Given the description of an element on the screen output the (x, y) to click on. 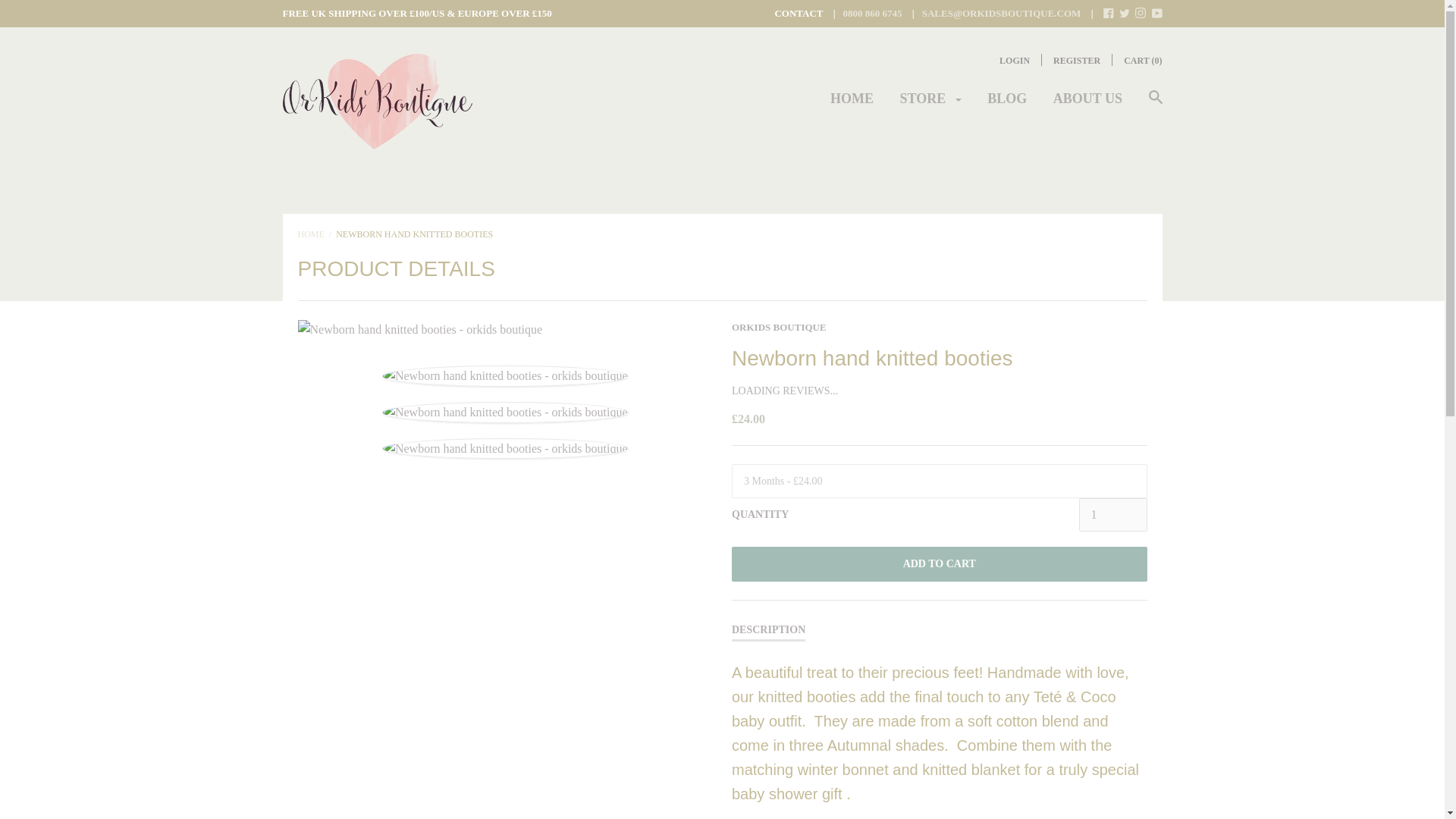
Twitter (1124, 14)
Facebook (1108, 12)
1 (1112, 514)
Instagram (1140, 14)
Twitter (1124, 12)
YouTube (1156, 14)
Instagram (1140, 12)
Facebook (1108, 14)
YouTube (1156, 12)
